Given the description of an element on the screen output the (x, y) to click on. 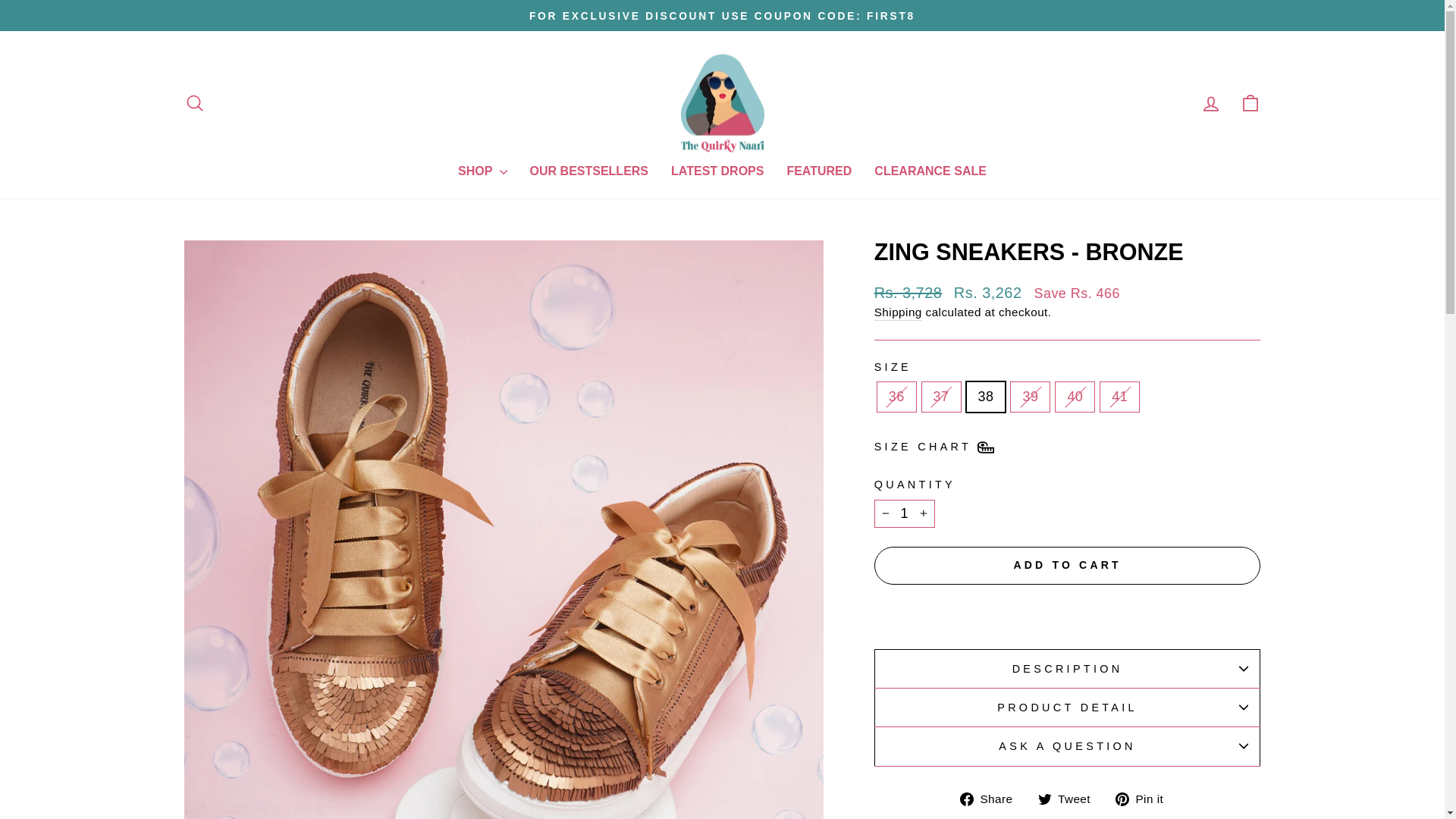
ICON-SEARCH (194, 102)
ICON-BAG-MINIMAL (1249, 102)
Pin on Pinterest (194, 102)
twitter (1144, 798)
40 (1043, 798)
1 (992, 798)
Tweet on Twitter (904, 513)
